Given the description of an element on the screen output the (x, y) to click on. 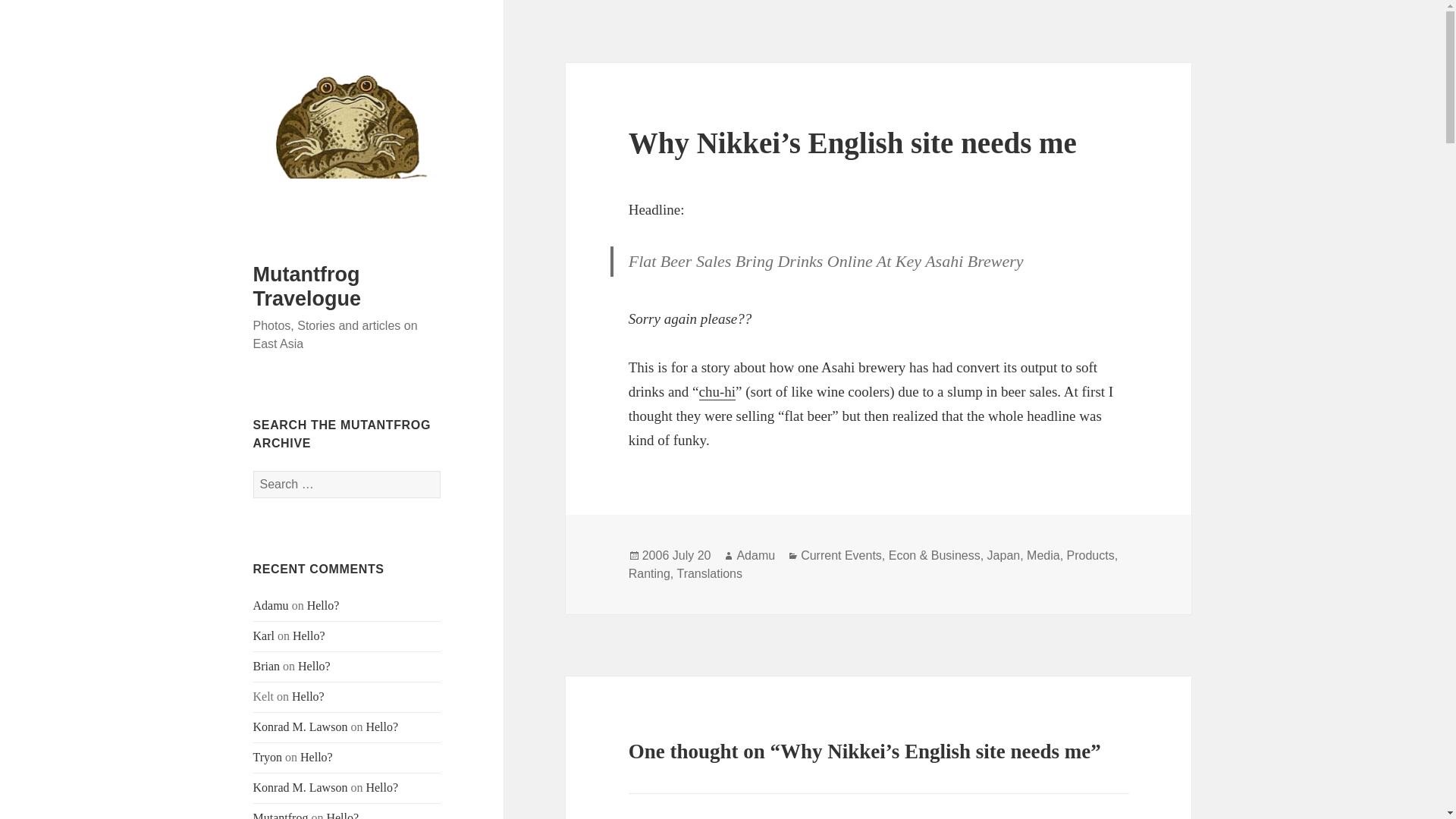
Hello? (308, 696)
Tryon (267, 757)
Mutantfrog Travelogue (307, 286)
Hello? (381, 787)
Mutantfrog (280, 815)
Hello? (323, 604)
Hello? (316, 757)
Hello? (308, 635)
Hello? (314, 666)
